Given the description of an element on the screen output the (x, y) to click on. 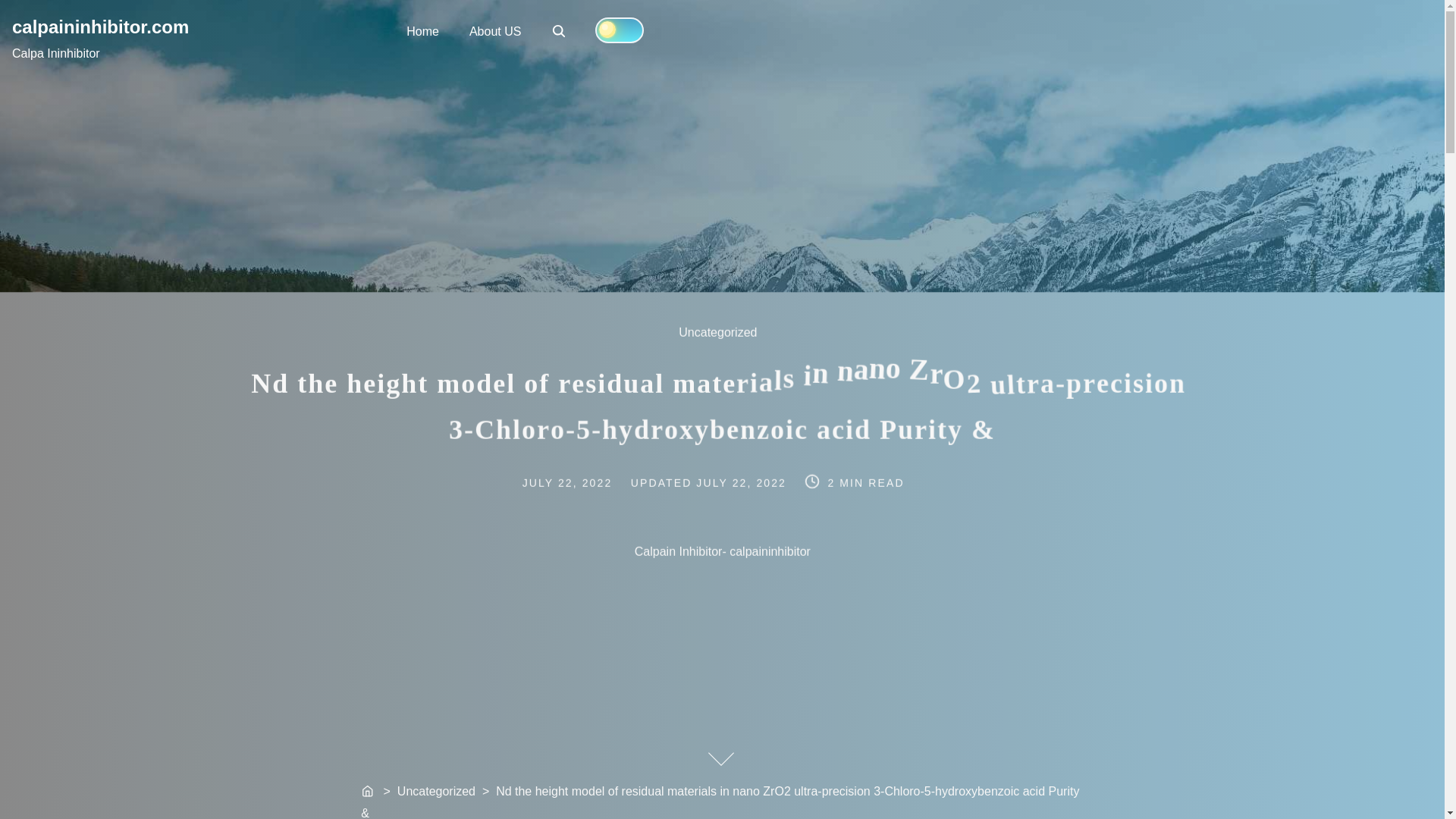
About US (559, 31)
Search (494, 30)
Home (558, 30)
JULY 22, 2022 (368, 792)
Uncategorized (583, 480)
JULY 22, 2022 (726, 341)
calpaininhibitor.com (743, 480)
Home (100, 26)
